Given the description of an element on the screen output the (x, y) to click on. 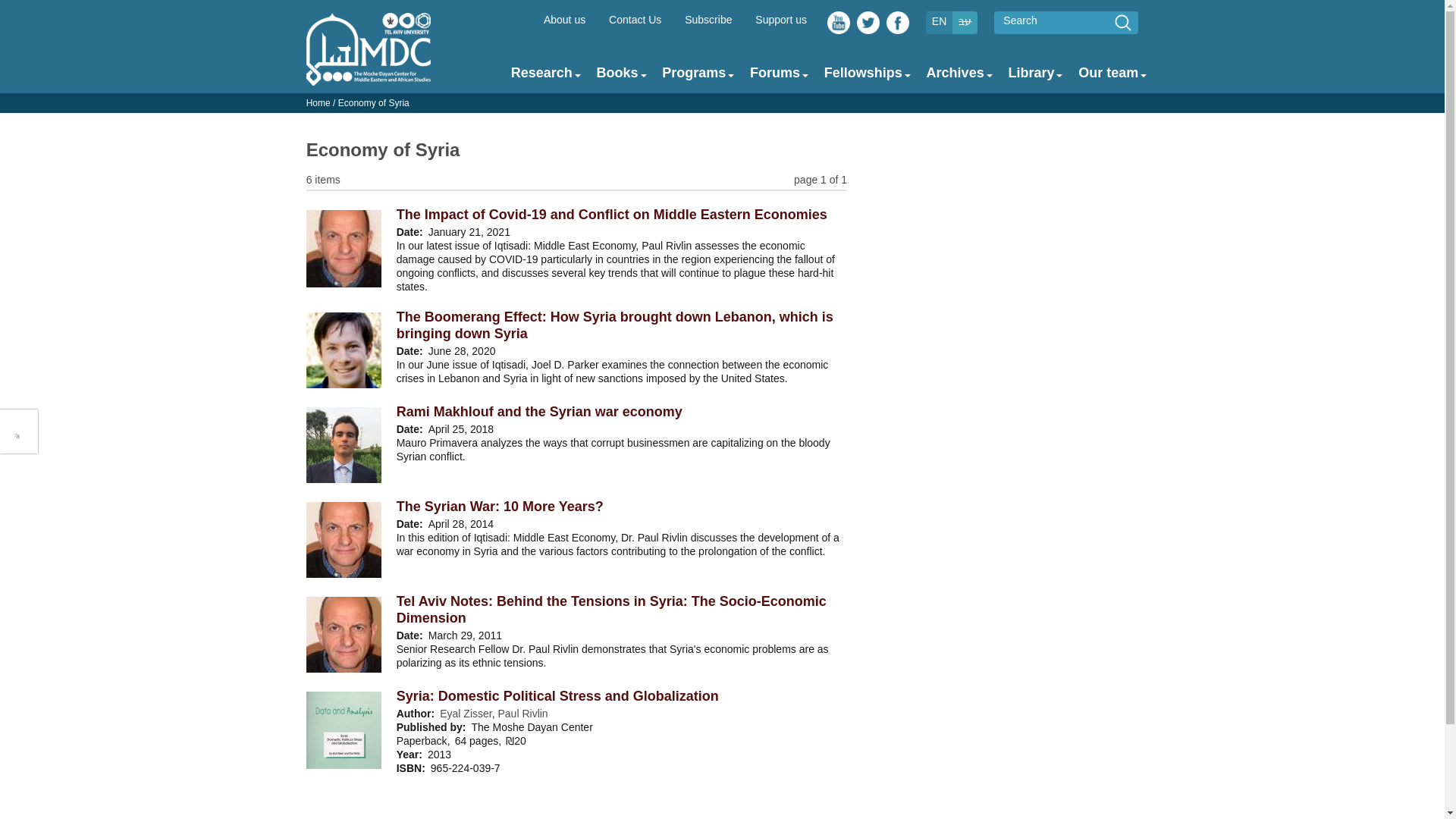
Support us (780, 19)
Subscribe (708, 19)
Research (541, 72)
Books (616, 72)
About us (564, 19)
Home page (367, 78)
Search (1123, 22)
Contact Us (634, 19)
Search (1123, 22)
Programs (693, 72)
EN (939, 21)
